Given the description of an element on the screen output the (x, y) to click on. 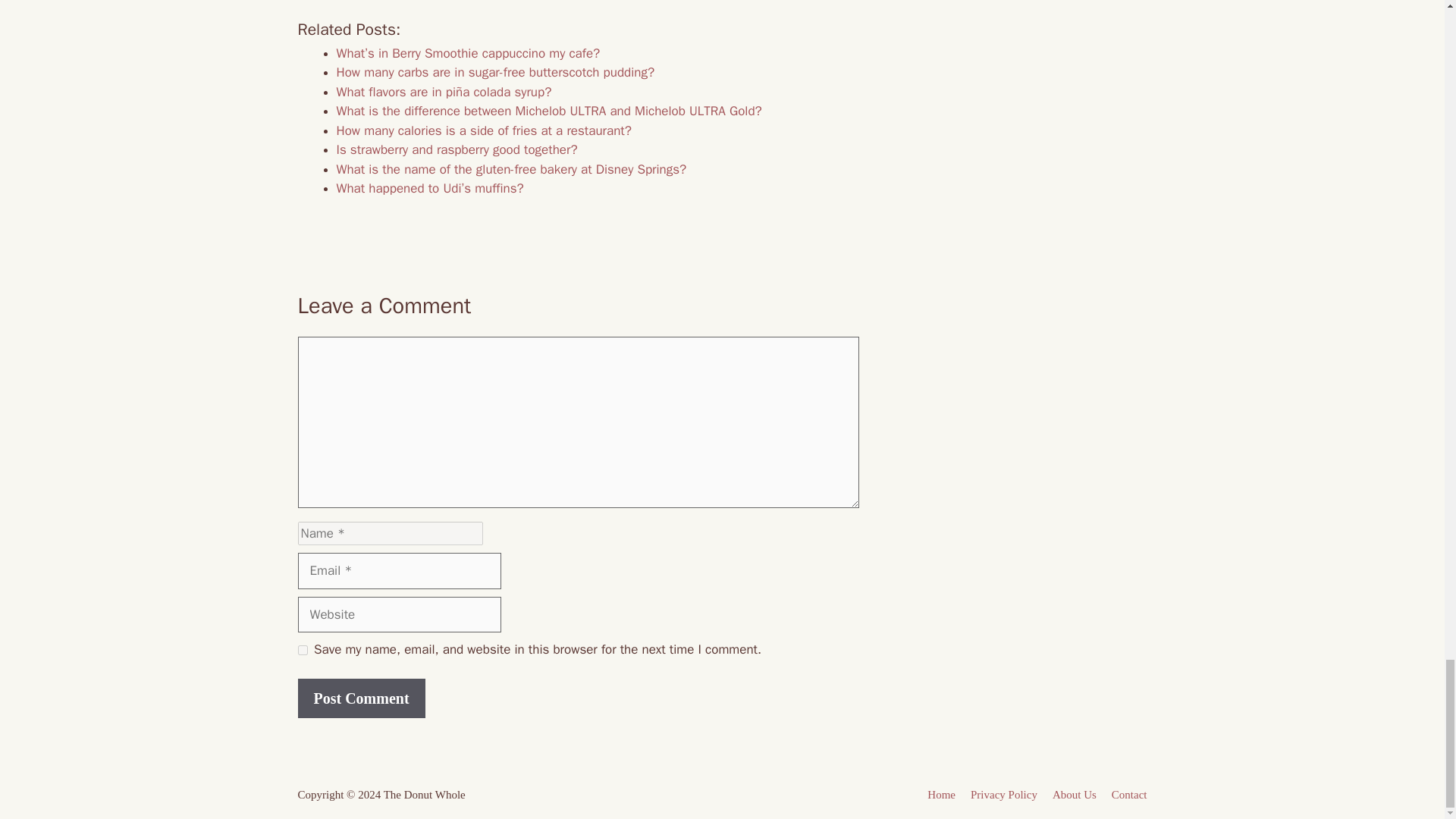
yes (302, 650)
Post Comment (361, 698)
